Given the description of an element on the screen output the (x, y) to click on. 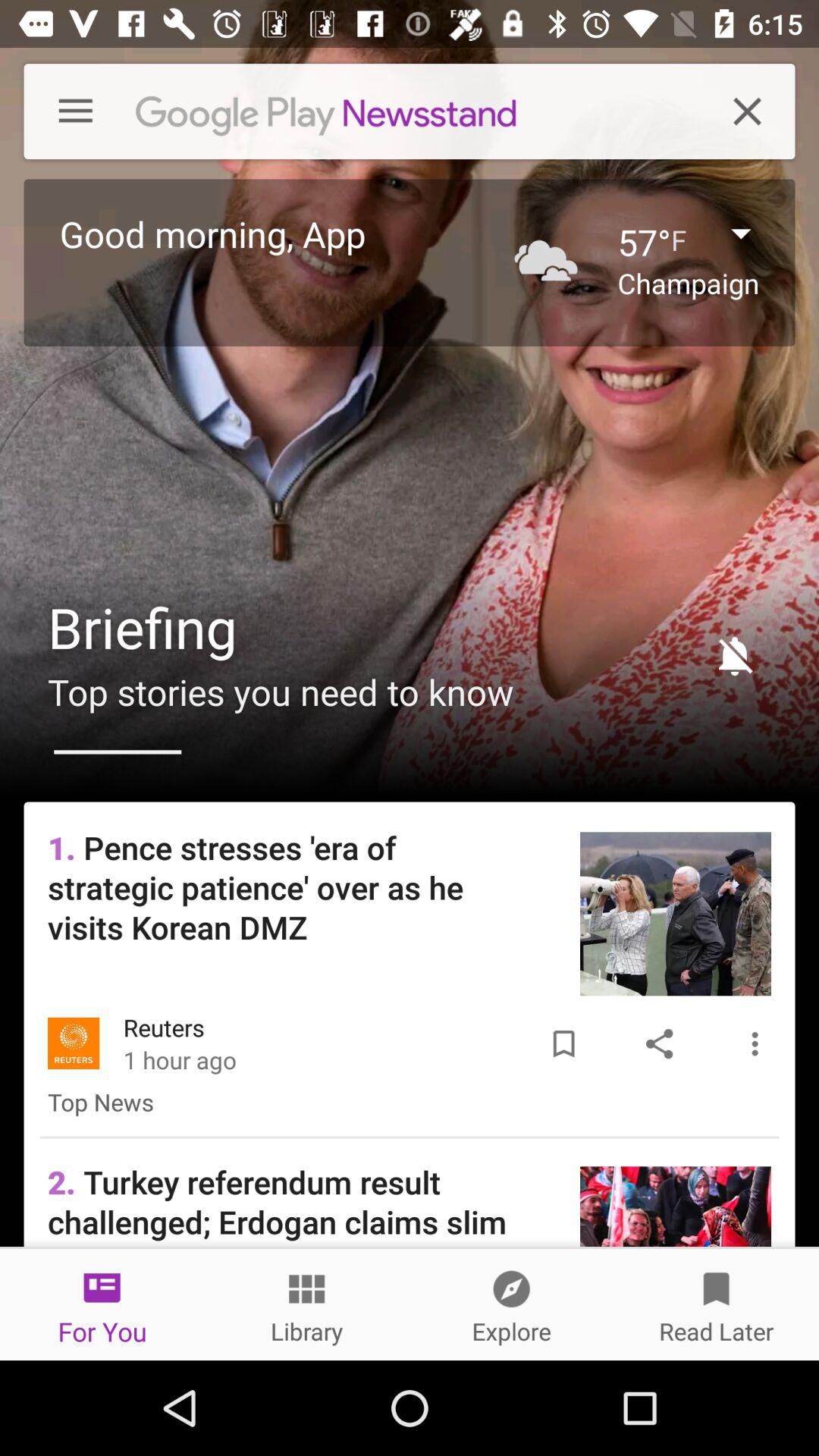
tap the icon above good morning, app icon (63, 111)
